Given the description of an element on the screen output the (x, y) to click on. 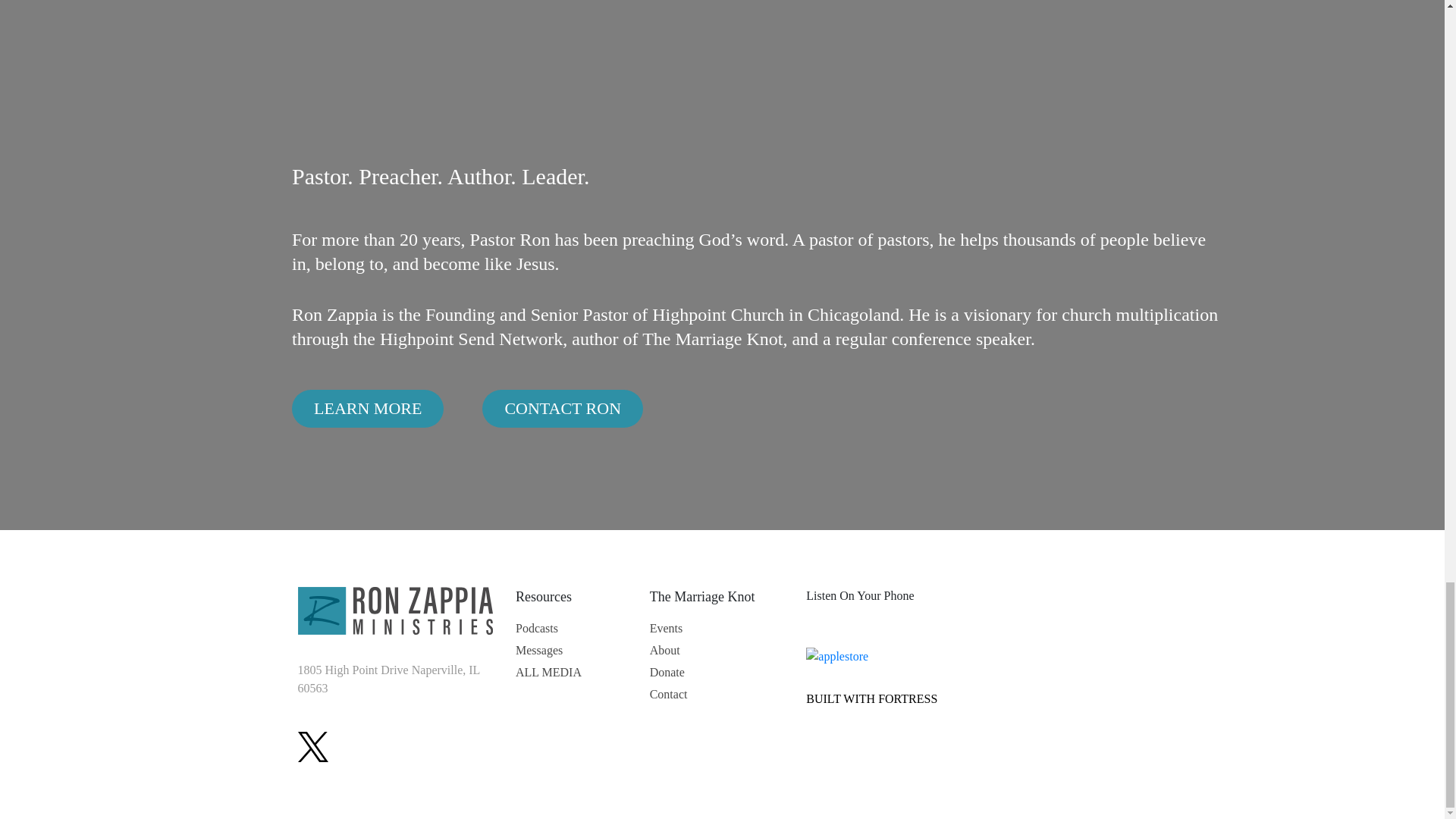
Podcasts (536, 628)
CONTACT RON (562, 408)
Donate (666, 672)
ALL MEDIA (547, 672)
Messages (538, 650)
Contact (668, 694)
About (664, 650)
Events (665, 628)
LEARN MORE (368, 408)
